Given the description of an element on the screen output the (x, y) to click on. 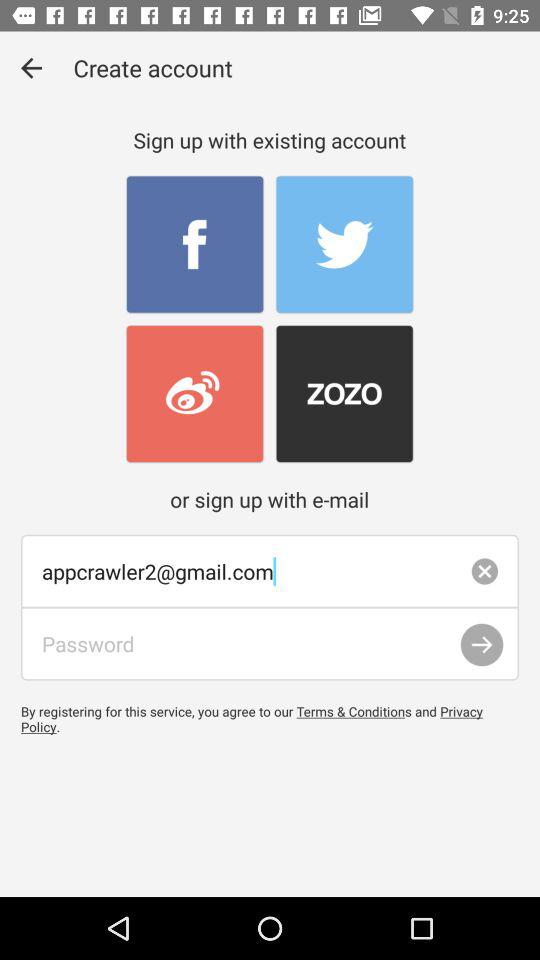
submit login after password has been entered (482, 644)
